Given the description of an element on the screen output the (x, y) to click on. 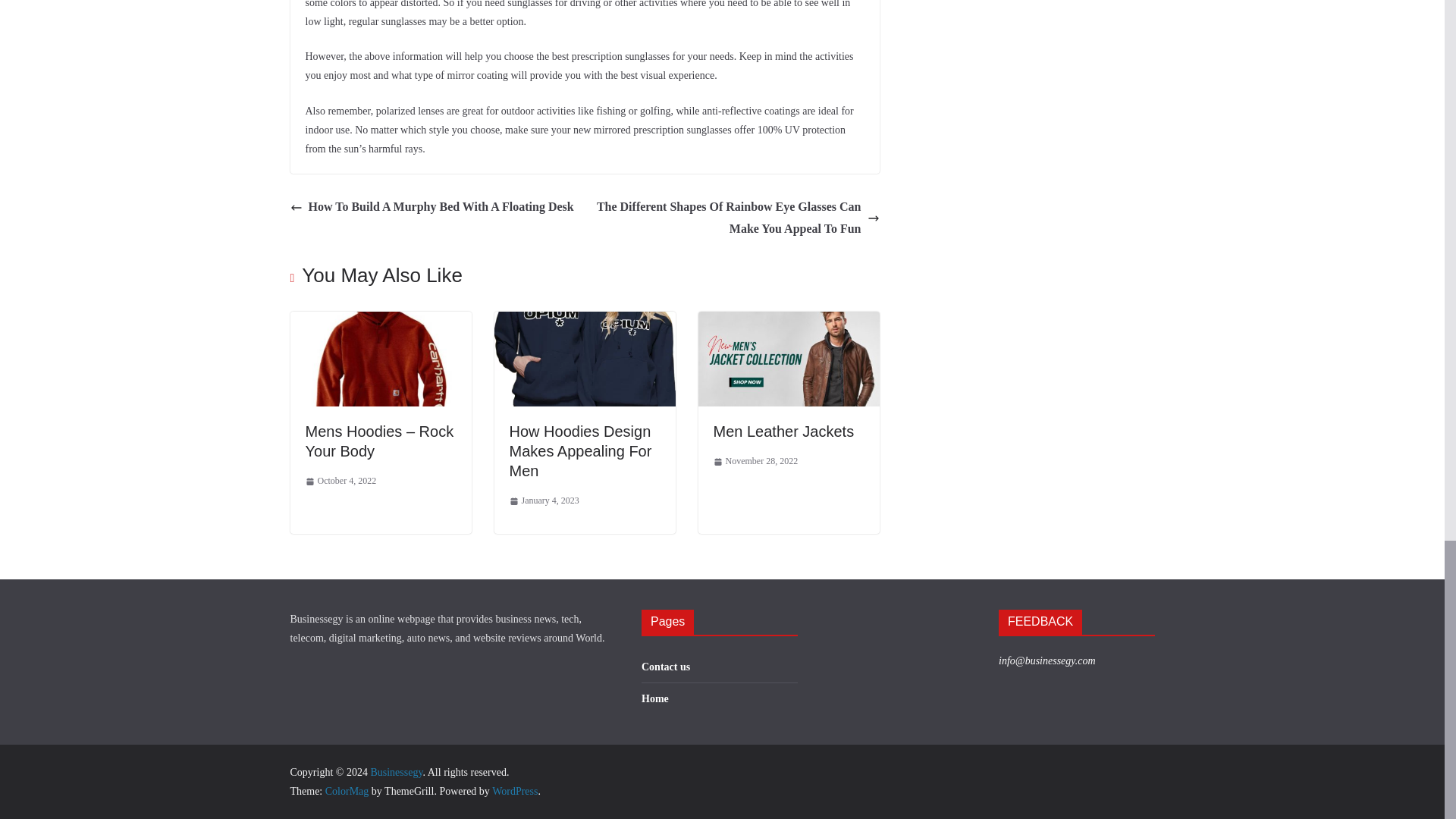
November 28, 2022 (755, 461)
Men Leather Jackets (783, 431)
October 4, 2022 (339, 481)
How Hoodies Design Makes Appealing For Men (585, 321)
6:51 am (544, 501)
7:32 am (339, 481)
How To Build A Murphy Bed With A Floating Desk (431, 207)
How Hoodies Design Makes Appealing For Men (580, 451)
How Hoodies Design Makes Appealing For Men (580, 451)
January 4, 2023 (544, 501)
